Given the description of an element on the screen output the (x, y) to click on. 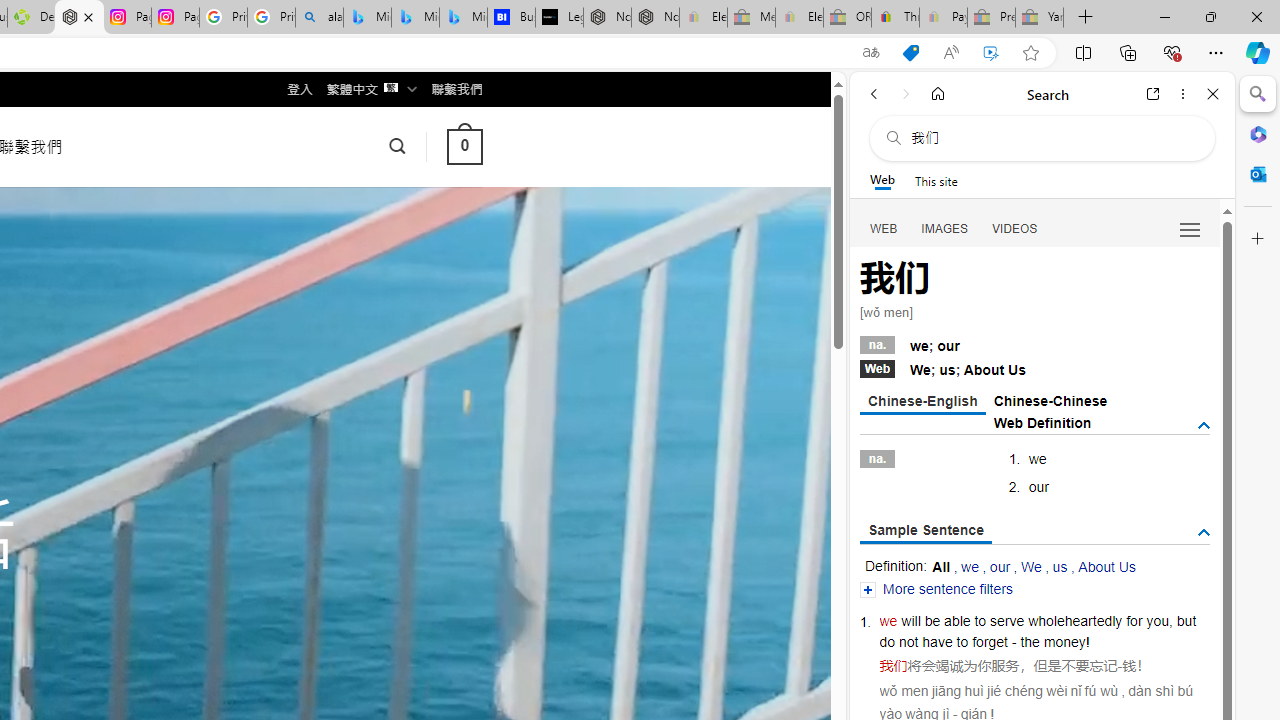
About Us (1106, 566)
we (888, 620)
This site has coupons! Shopping in Microsoft Edge (910, 53)
Payments Terms of Use | eBay.com - Sleeping (943, 17)
Threats and offensive language policy | eBay (895, 17)
not (908, 642)
We (1030, 566)
AutomationID: tgdef (1203, 425)
